Given the description of an element on the screen output the (x, y) to click on. 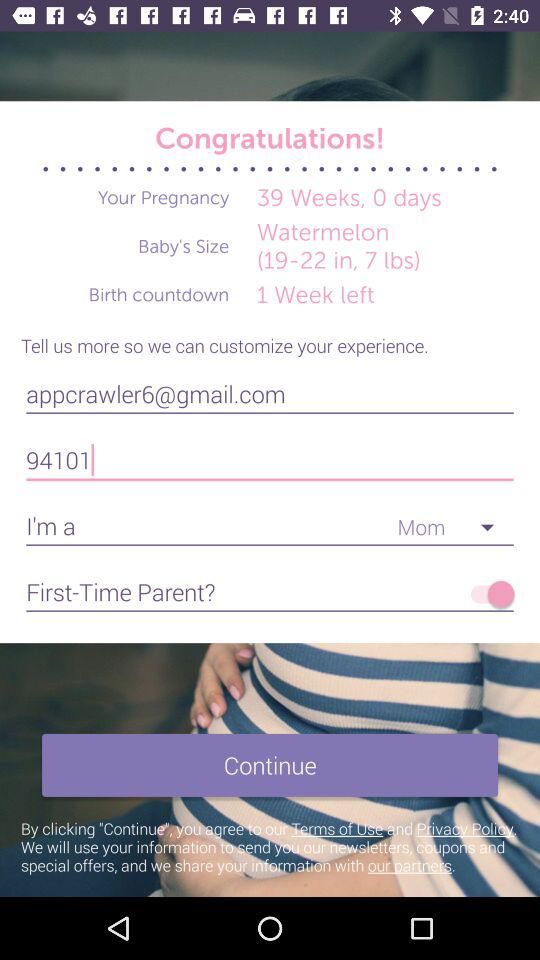
launch the appcrawler6@gmail.com (270, 394)
